Given the description of an element on the screen output the (x, y) to click on. 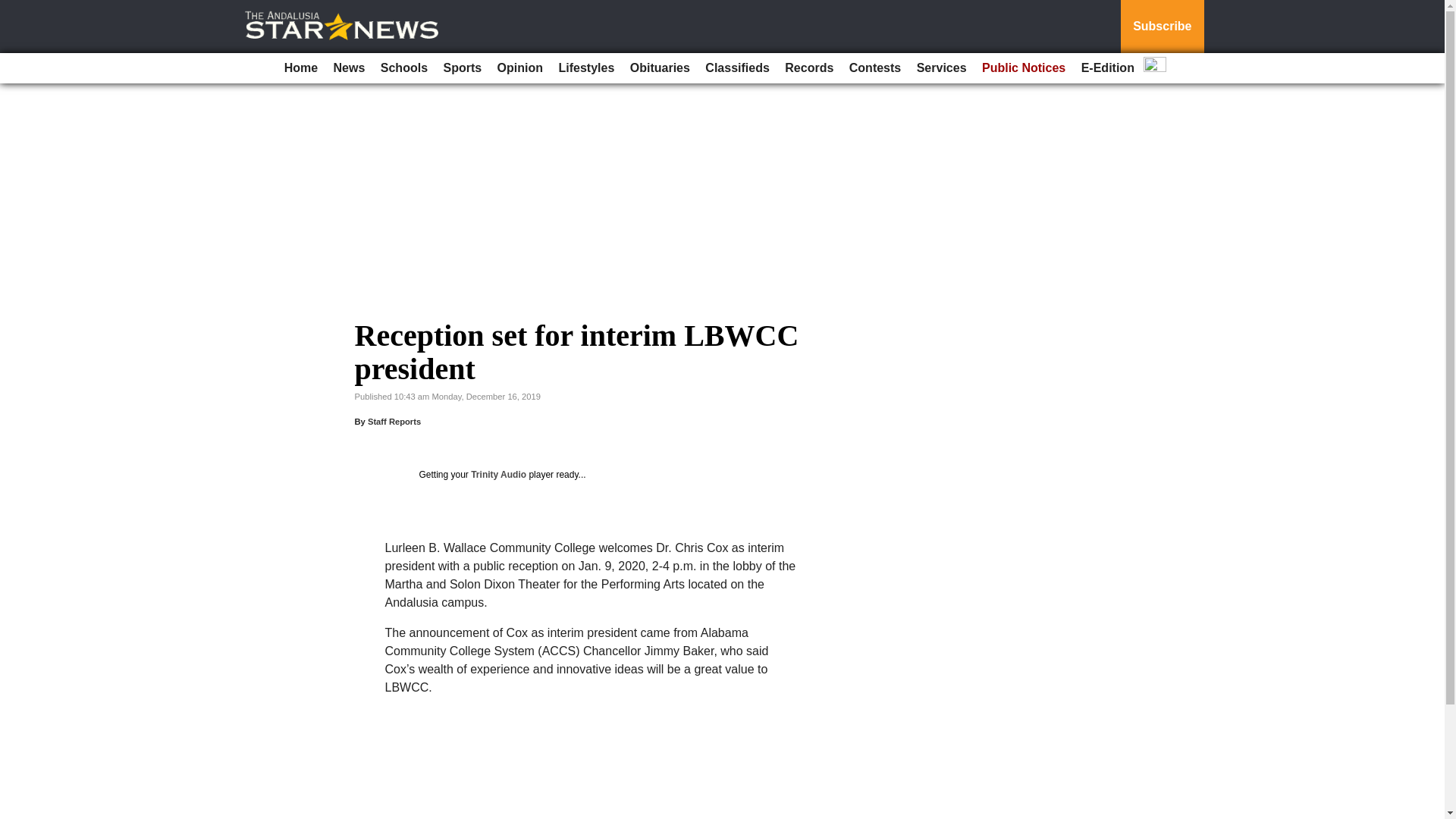
E-Edition (1107, 68)
Contests (875, 68)
Home (300, 68)
Classifieds (736, 68)
Services (941, 68)
Records (809, 68)
Opinion (520, 68)
Staff Reports (394, 420)
Lifestyles (585, 68)
Public Notices (1023, 68)
